Given the description of an element on the screen output the (x, y) to click on. 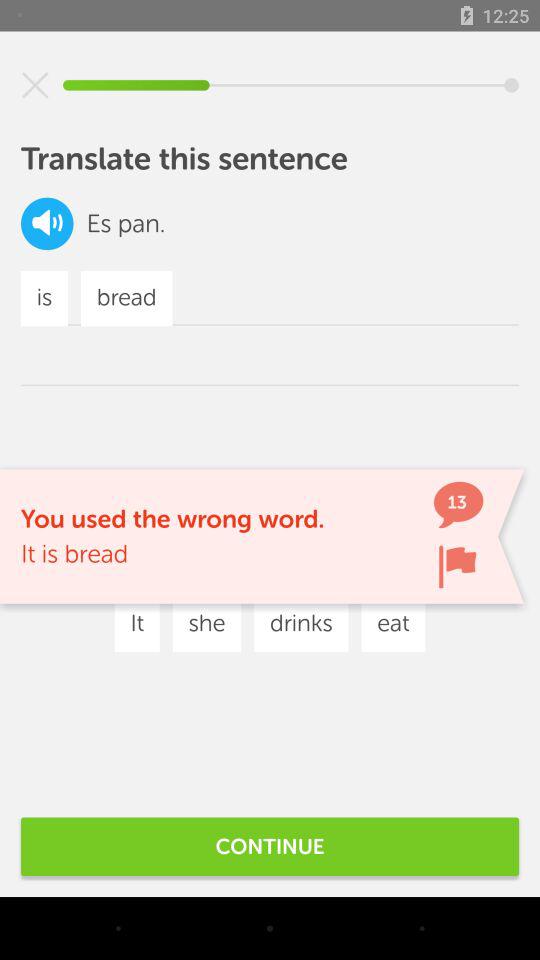
close out (35, 85)
